Given the description of an element on the screen output the (x, y) to click on. 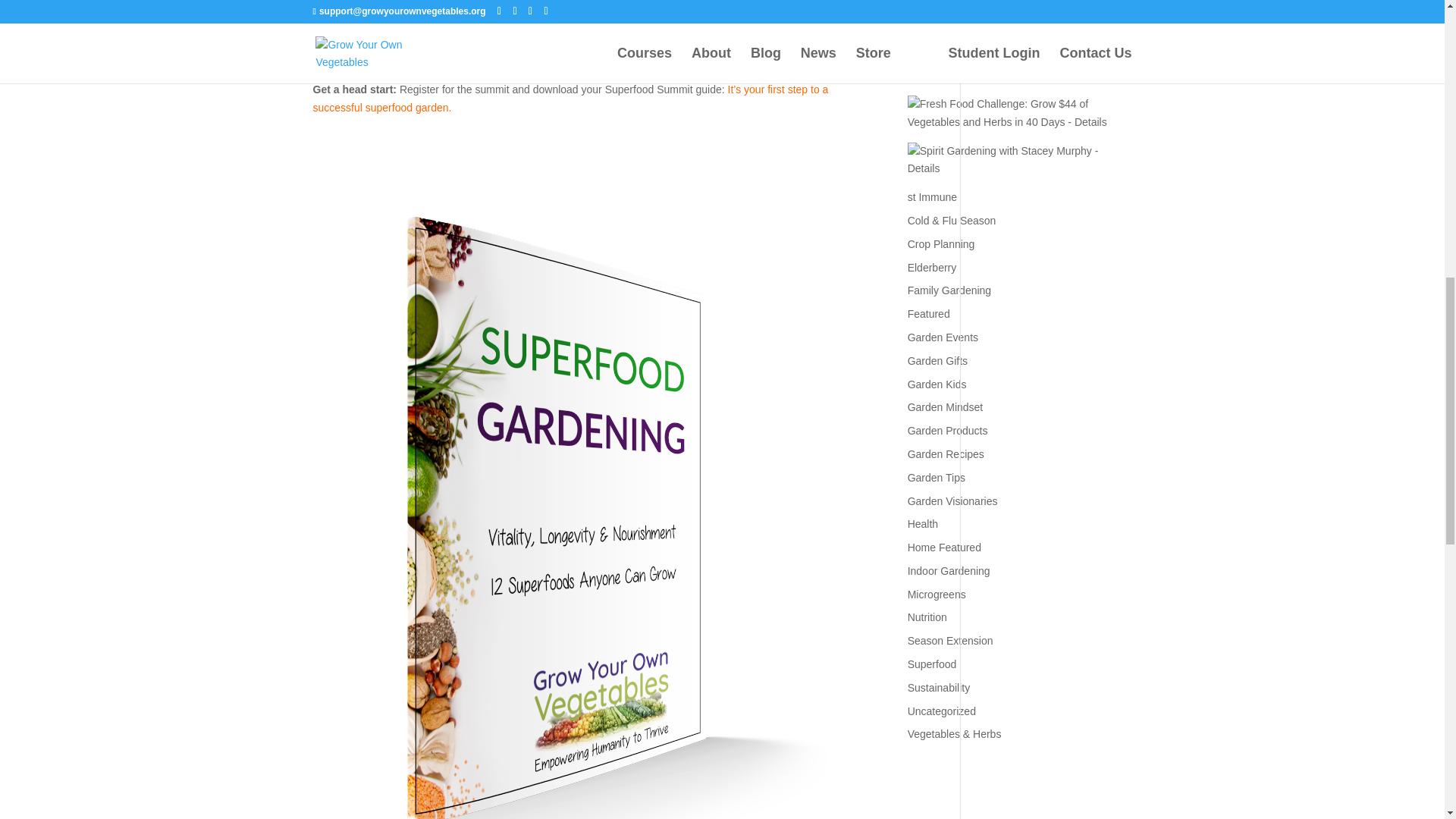
Crop Planning (941, 244)
Featured (928, 313)
Family Gardening (949, 290)
Elderberry (931, 267)
Boost Immune (1017, 101)
